Given the description of an element on the screen output the (x, y) to click on. 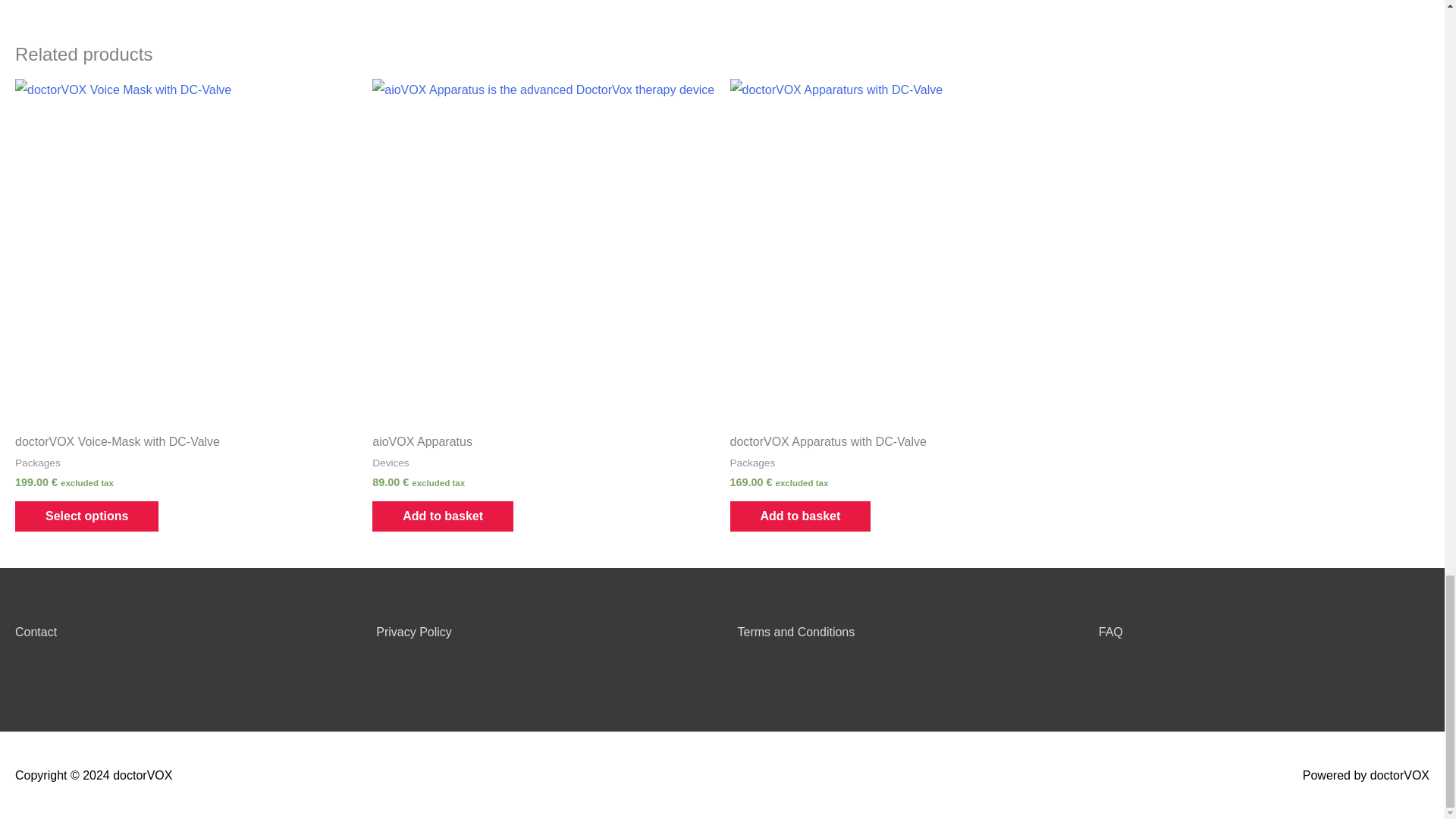
Add to basket (442, 516)
doctorVOX Voice-Mask with DC-Valve (185, 445)
Add to basket (799, 516)
Privacy Policy (413, 631)
doctorVOX Apparatus with DC-Valve (900, 445)
Select options (86, 516)
Terms and Conditions (795, 631)
Contact (35, 631)
aioVOX Apparatus (543, 445)
